Given the description of an element on the screen output the (x, y) to click on. 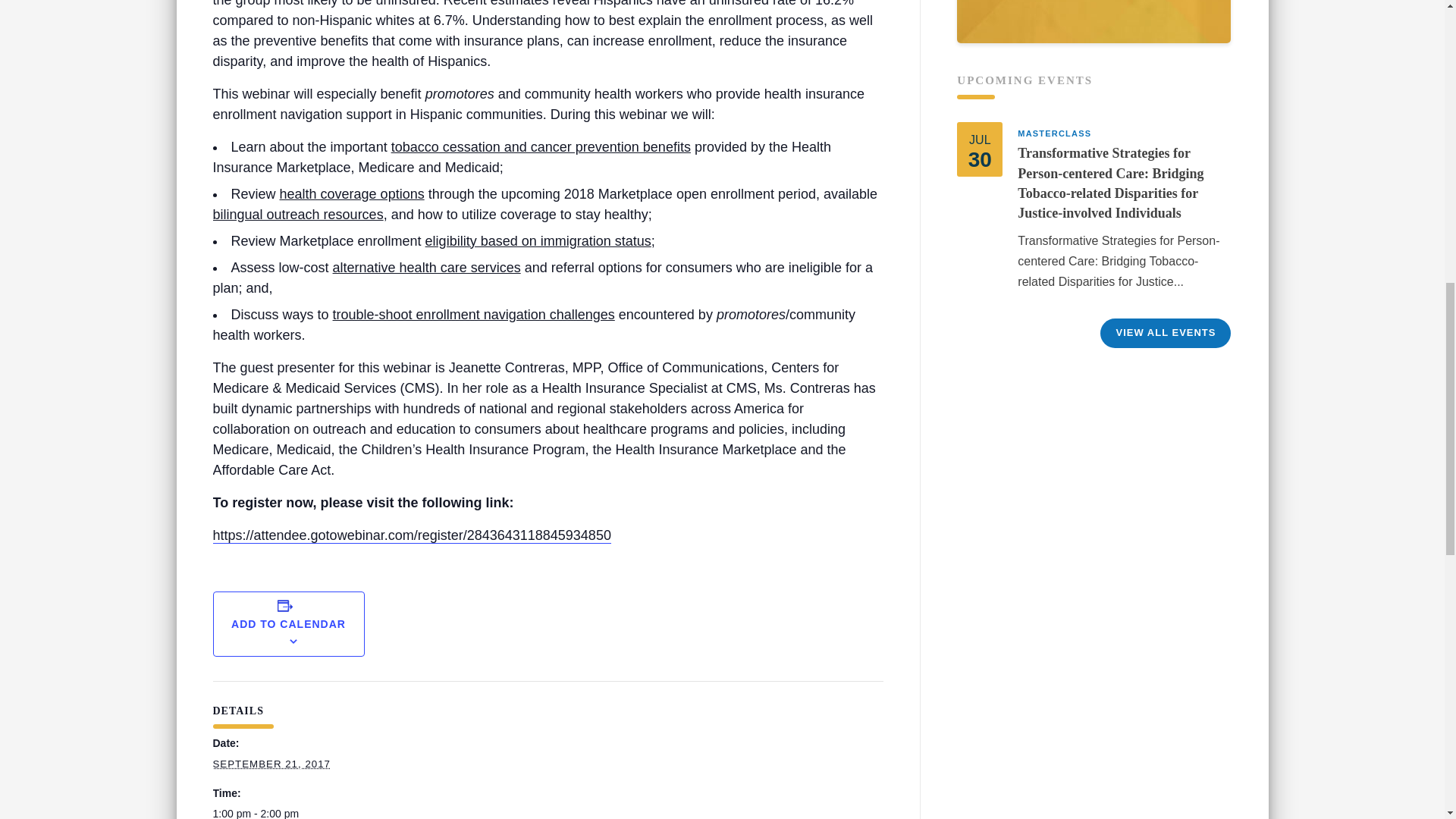
VIEW ALL EVENTS (1165, 332)
2017-09-21 (271, 763)
ADD TO CALENDAR (288, 623)
2017-09-21 (285, 812)
